Given the description of an element on the screen output the (x, y) to click on. 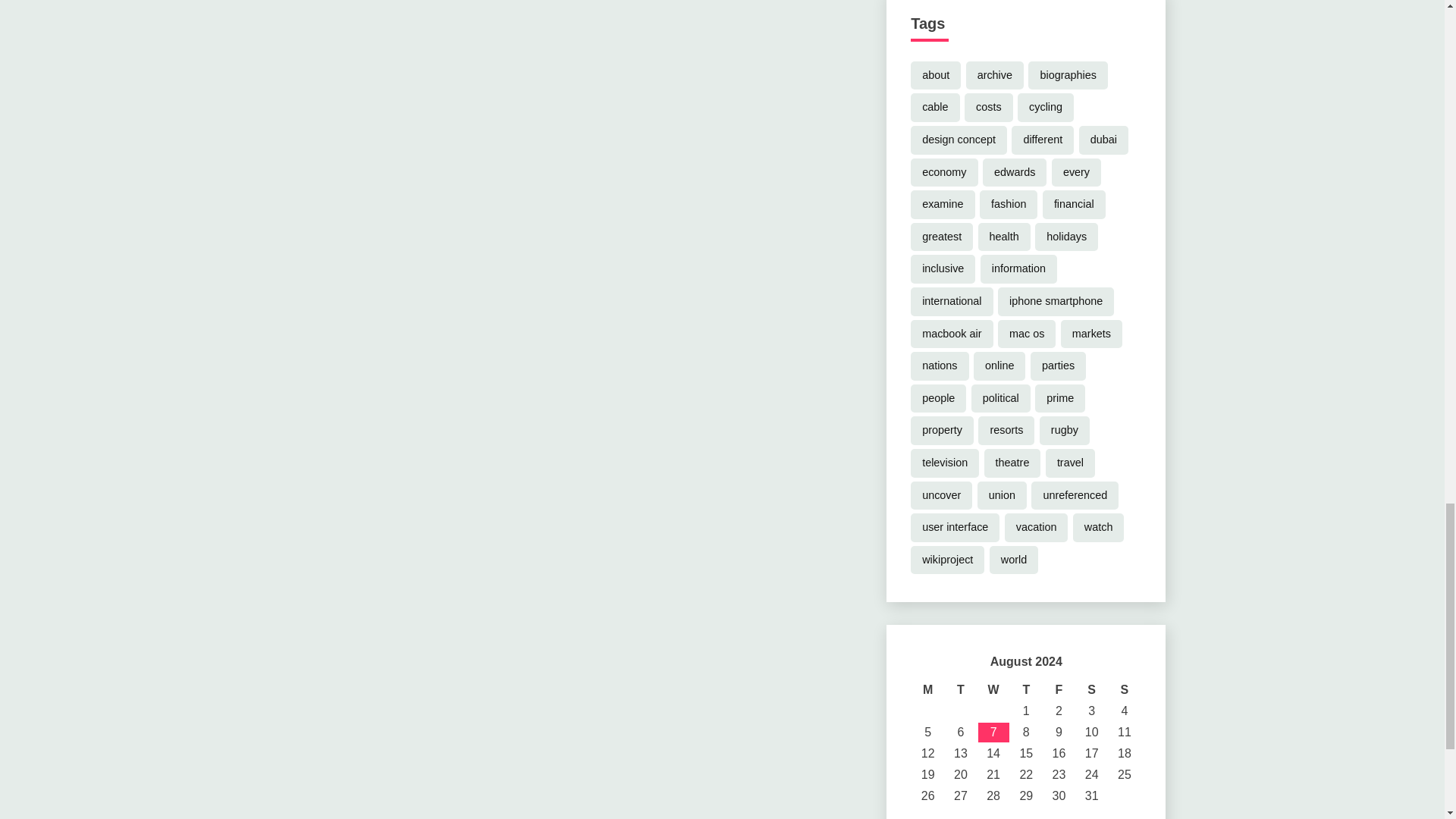
Saturday (1090, 690)
Tuesday (959, 690)
Wednesday (993, 690)
Monday (927, 690)
Thursday (1026, 690)
Sunday (1124, 690)
Friday (1058, 690)
